Given the description of an element on the screen output the (x, y) to click on. 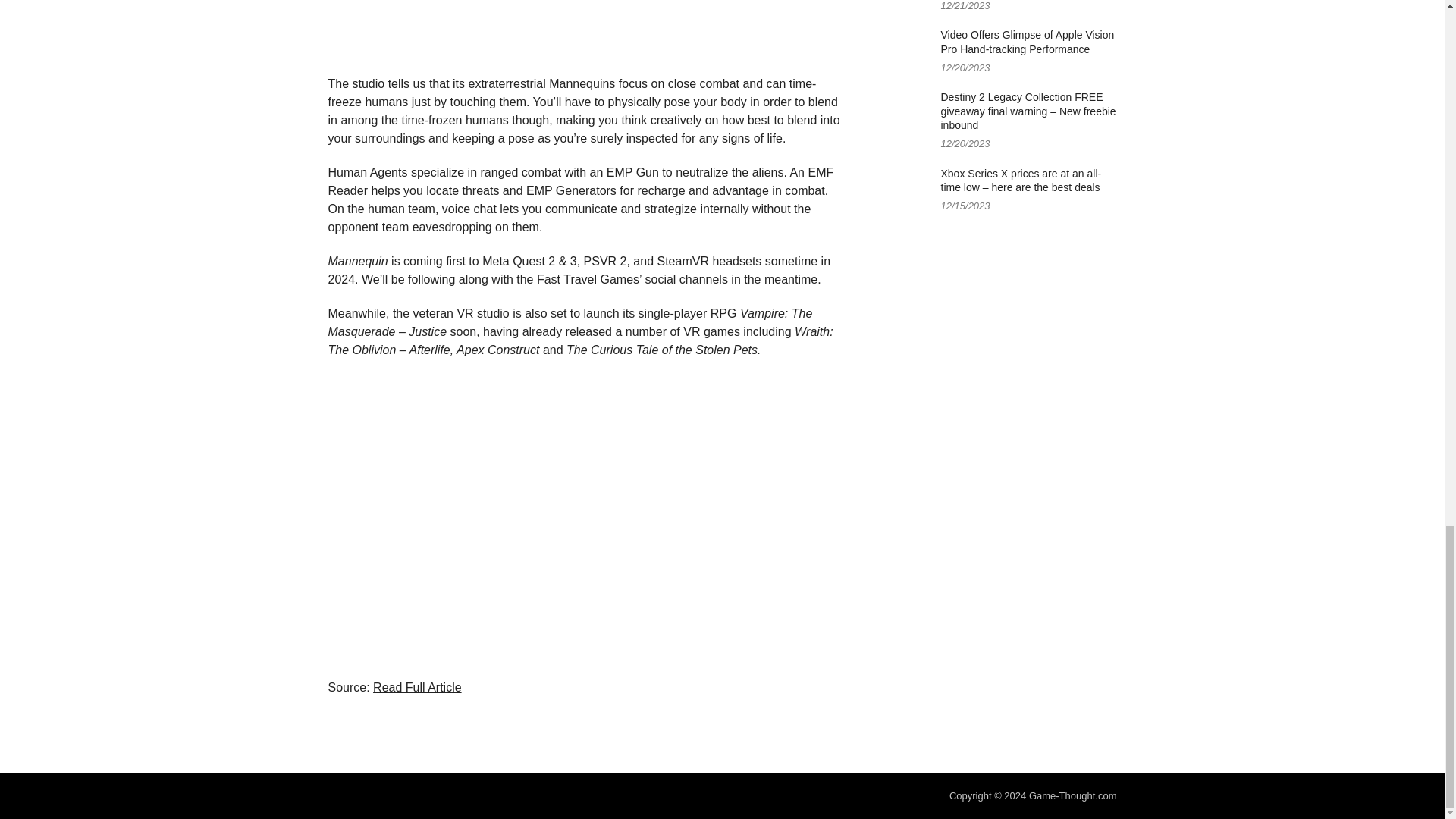
Read Full Article (416, 686)
